Given the description of an element on the screen output the (x, y) to click on. 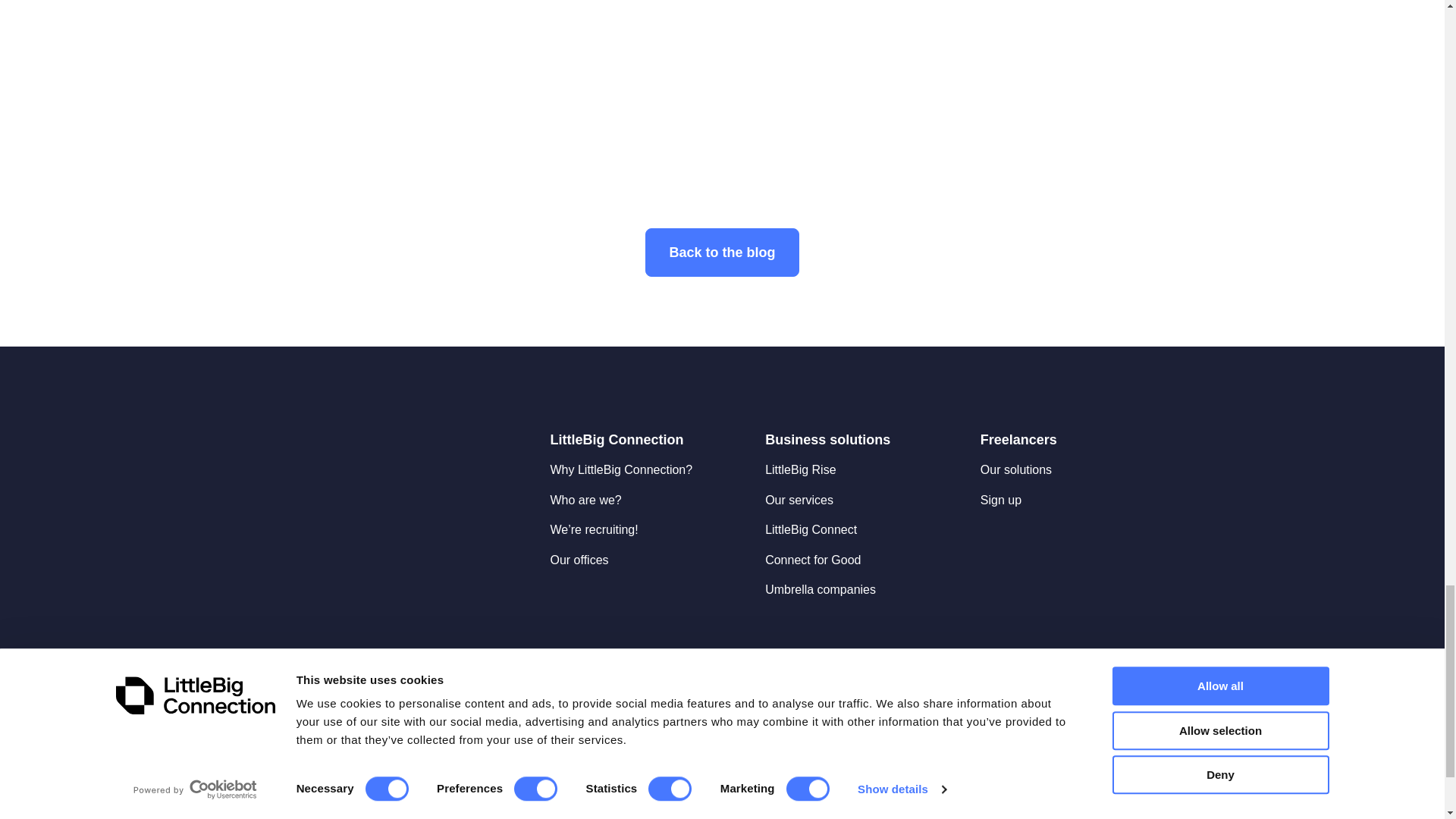
LittleBig Twitter (1055, 656)
LittleBig Facebook (1022, 656)
LittleBig Linkedin (988, 656)
Mantu (1078, 784)
